Given the description of an element on the screen output the (x, y) to click on. 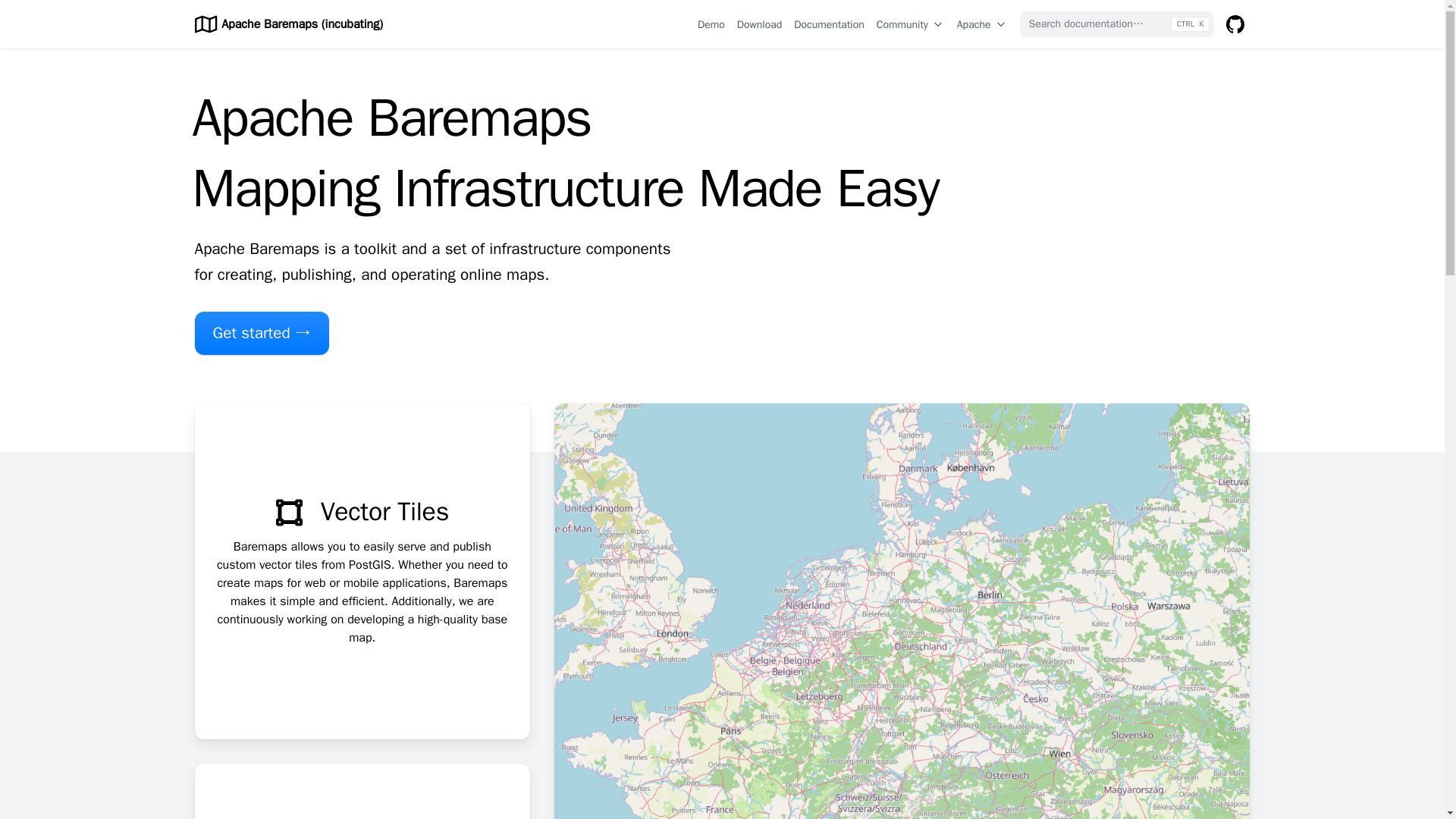
Demo (710, 24)
Download (759, 24)
Documentation (828, 24)
Apache (981, 24)
Community (910, 24)
